Given the description of an element on the screen output the (x, y) to click on. 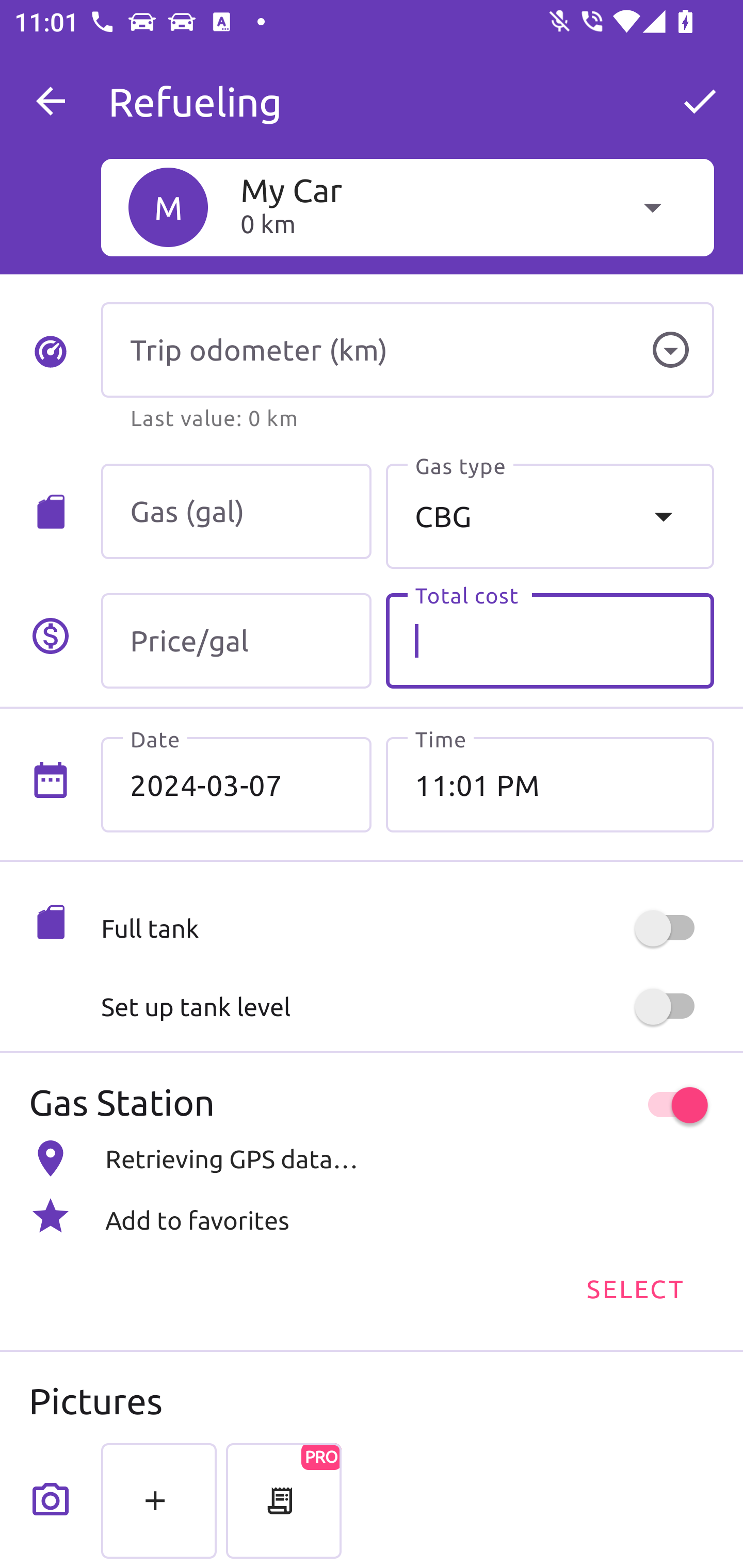
Navigate up (50, 101)
OK (699, 101)
M My Car 0 km (407, 206)
Trip odometer (km) (407, 350)
Odometer (670, 349)
Gas (gal) (236, 511)
CBG (549, 516)
Price/gal (236, 640)
Total cost  (549, 640)
2024-03-07 (236, 784)
11:01 PM (549, 784)
Full tank (407, 928)
Set up tank level (407, 1006)
Add to favorites (371, 1215)
SELECT (634, 1287)
